Given the description of an element on the screen output the (x, y) to click on. 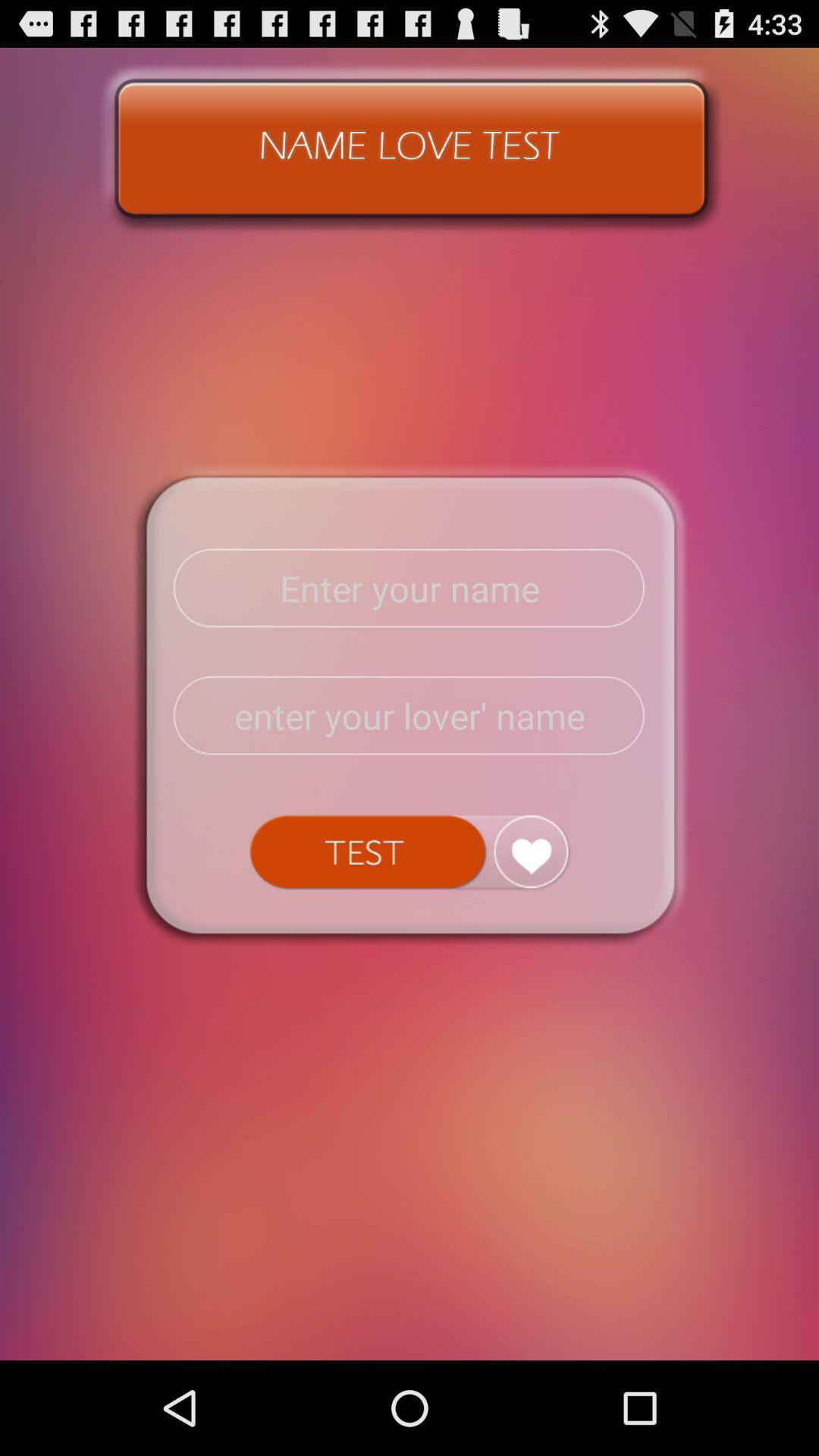
enter name of lover (409, 715)
